Given the description of an element on the screen output the (x, y) to click on. 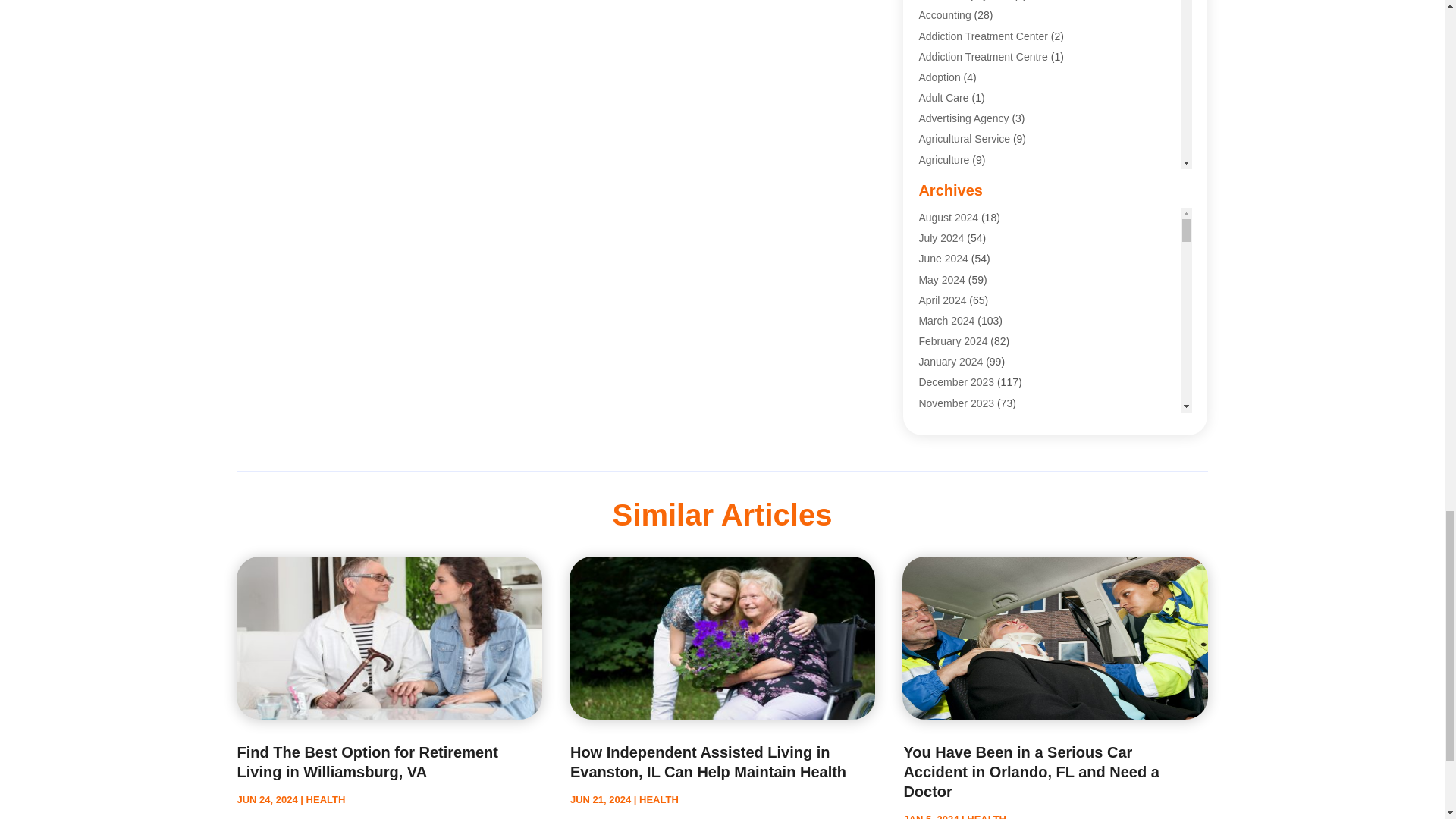
Addiction Treatment Center (982, 36)
Addiction Treatment Centre (982, 56)
Accounting (944, 15)
Advertising Agency (963, 118)
Adoption (938, 77)
Adult Care (943, 97)
